Given the description of an element on the screen output the (x, y) to click on. 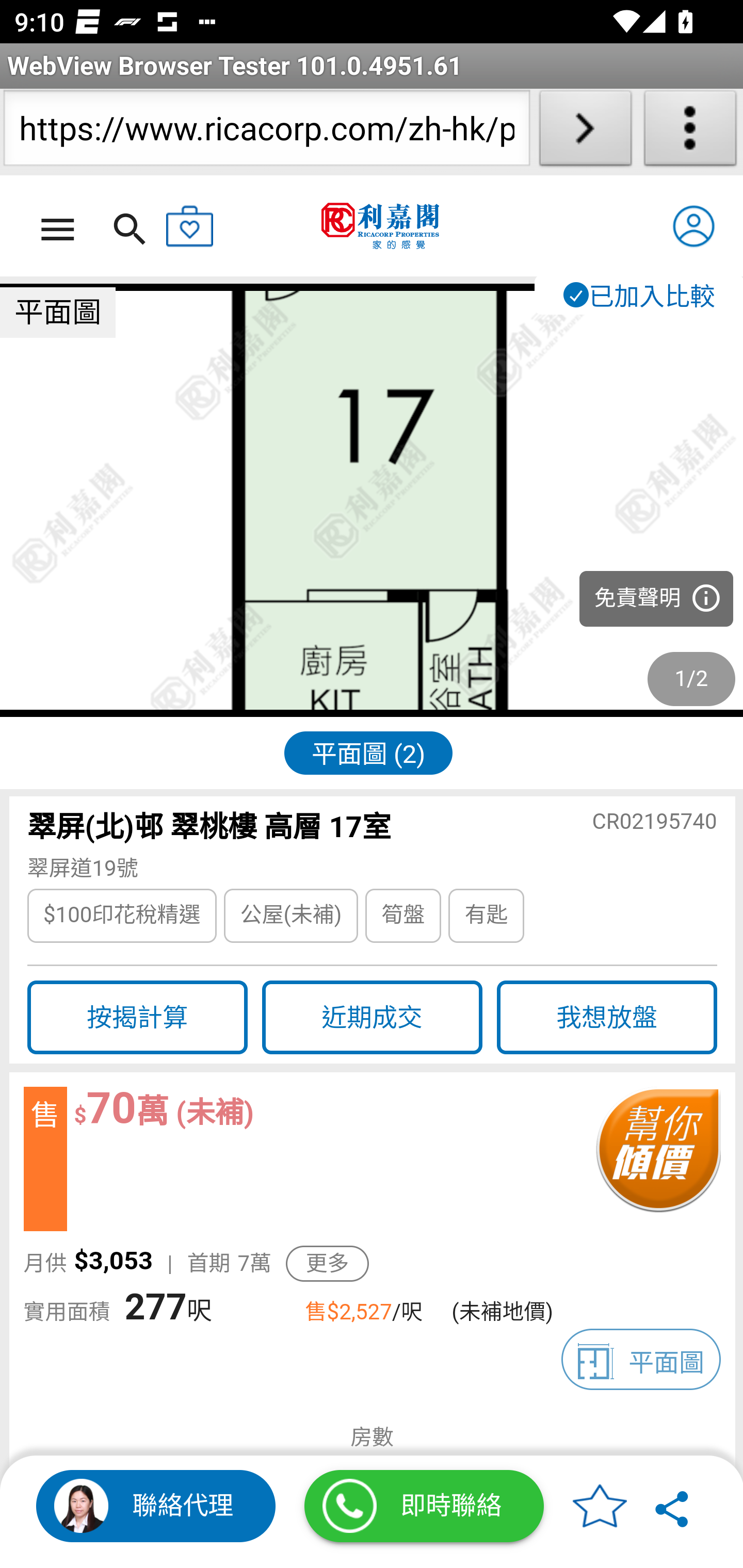
Load URL (585, 132)
About WebView (690, 132)
checked 已加入比較 (637, 294)
image 免責聲明 (371, 500)
免責聲明 (656, 599)
平面圖 (2) (368, 752)
按揭計算 (136, 1018)
近期成交 (371, 1018)
我想放盤 (606, 1018)
negotiation (657, 1159)
更多 (327, 1263)
平面圖 (640, 1359)
Joey Hu 聯絡代理 (156, 1505)
whatsapp 即時聯絡 (424, 1505)
Share button (672, 1505)
